Given the description of an element on the screen output the (x, y) to click on. 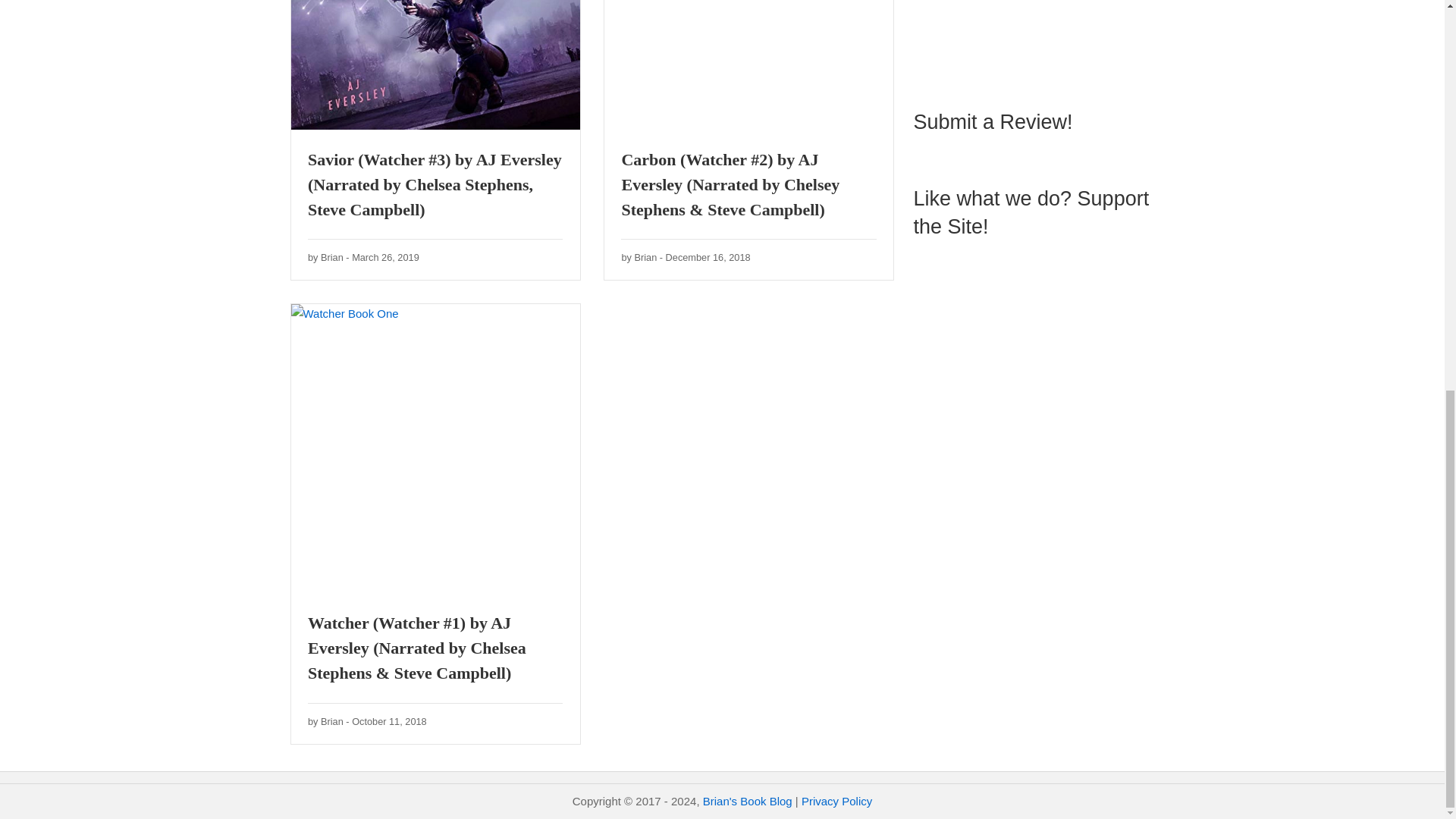
Brian (708, 256)
Privacy Policy (385, 256)
Brian's Book Blog (331, 721)
Brian (837, 800)
Brian (747, 800)
Advertisement (389, 721)
